Given the description of an element on the screen output the (x, y) to click on. 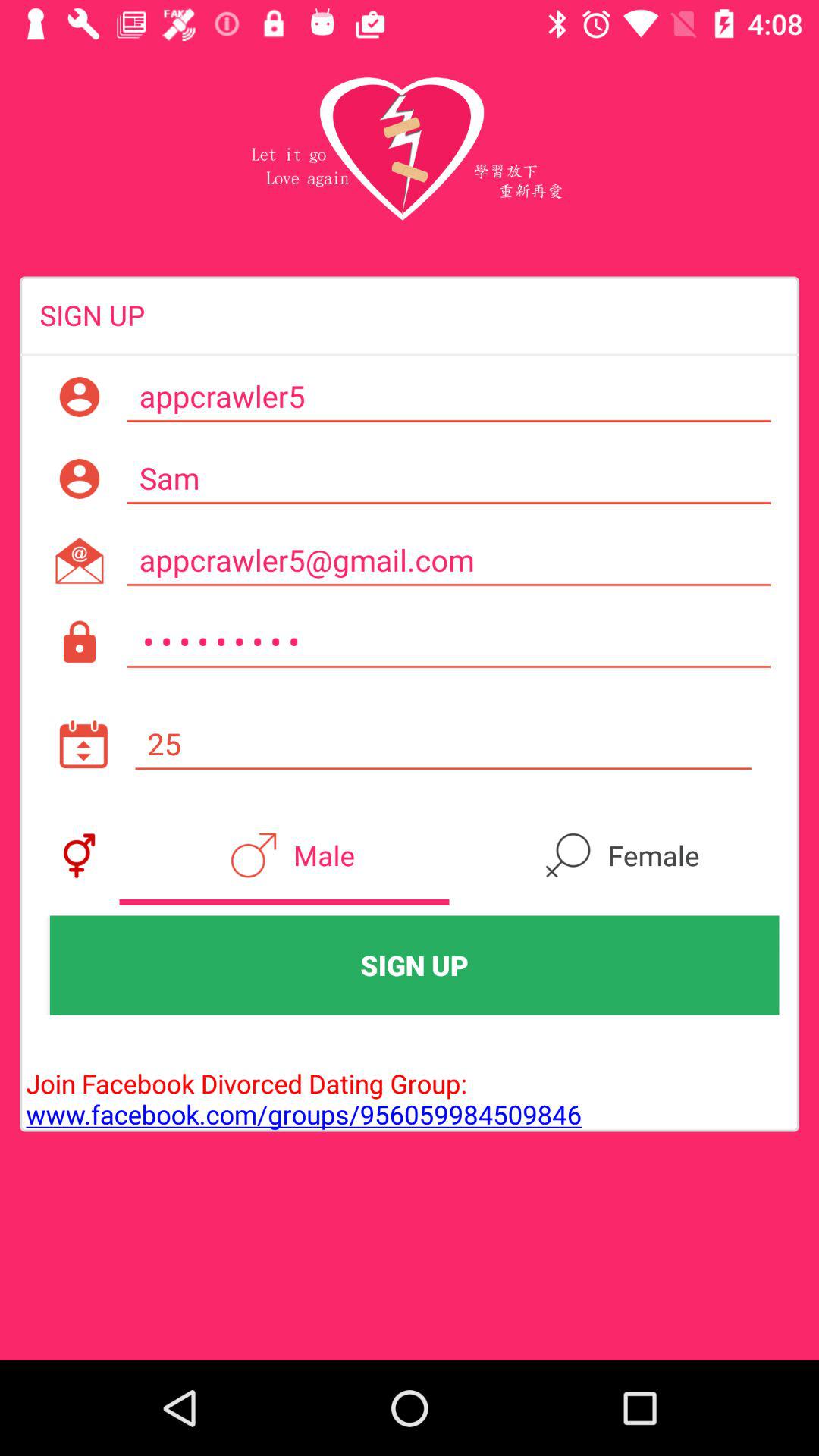
turn off item above appcrawler5@gmail.com item (449, 478)
